Given the description of an element on the screen output the (x, y) to click on. 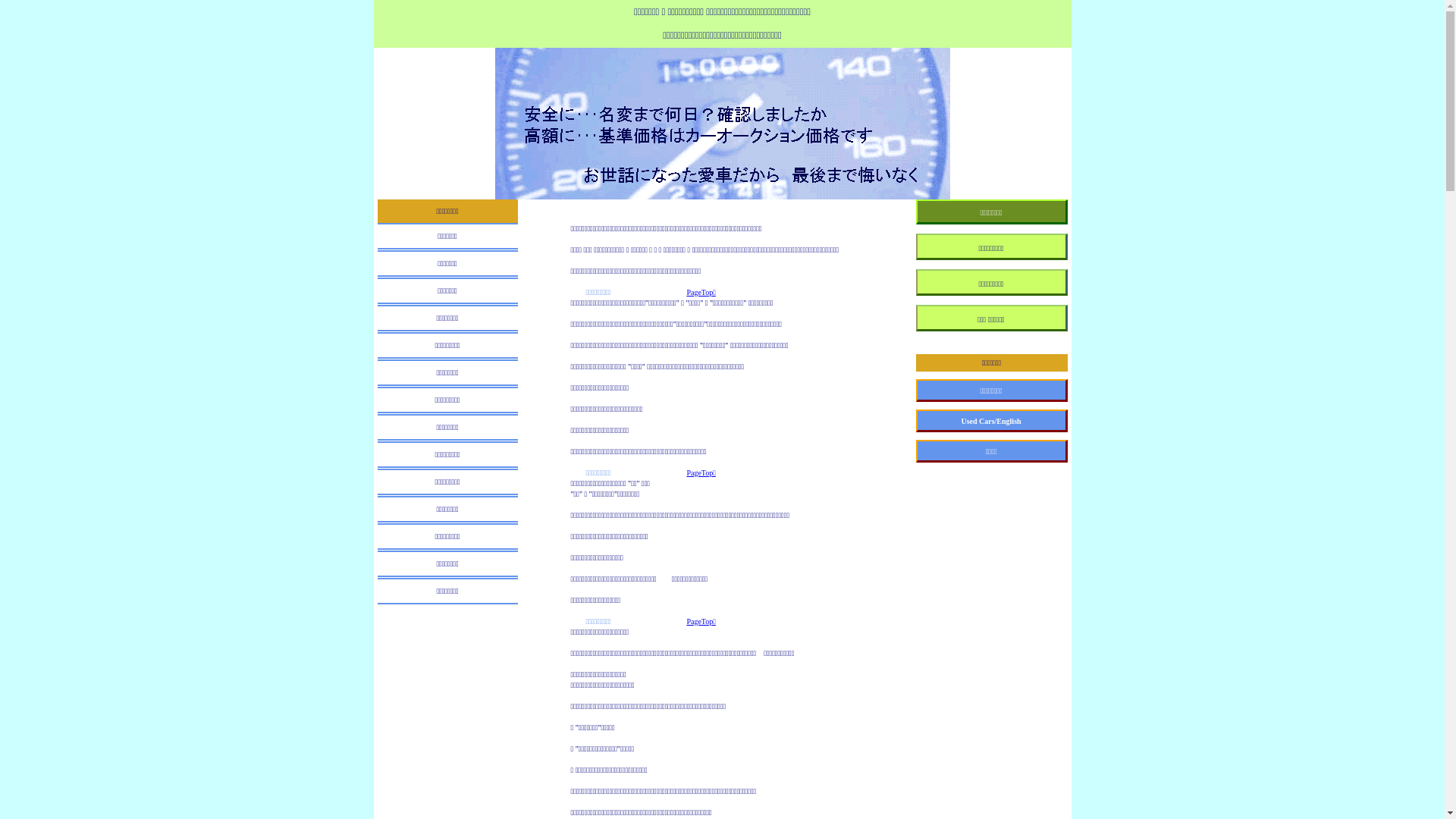
Used Cars/English Element type: text (991, 420)
